Given the description of an element on the screen output the (x, y) to click on. 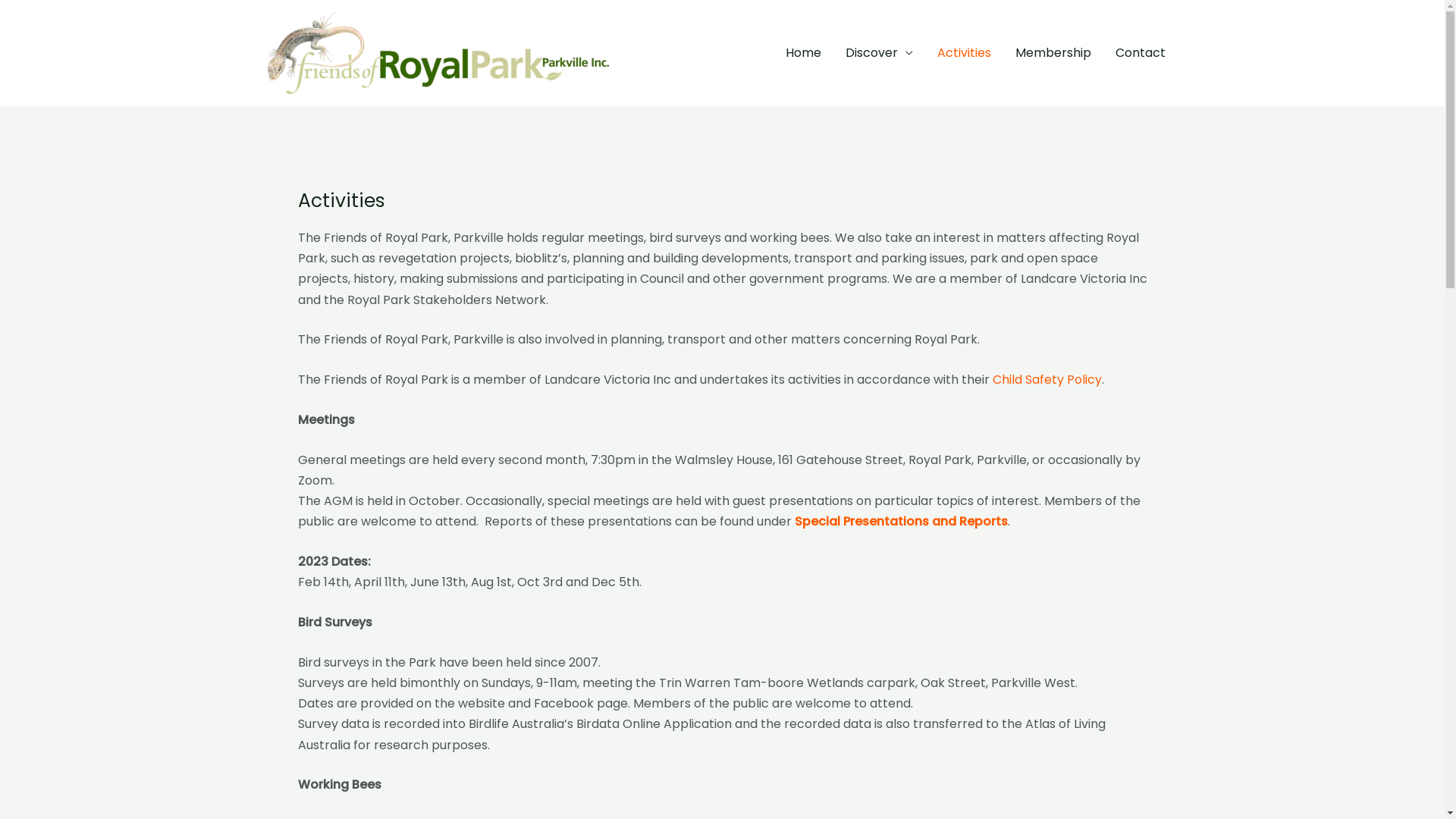
Home Element type: text (803, 52)
Activities Element type: text (964, 52)
Membership Element type: text (1052, 52)
Child Safety Policy Element type: text (1046, 379)
Discover Element type: text (878, 52)
Contact Element type: text (1139, 52)
Special Presentations and Reports Element type: text (900, 521)
